Given the description of an element on the screen output the (x, y) to click on. 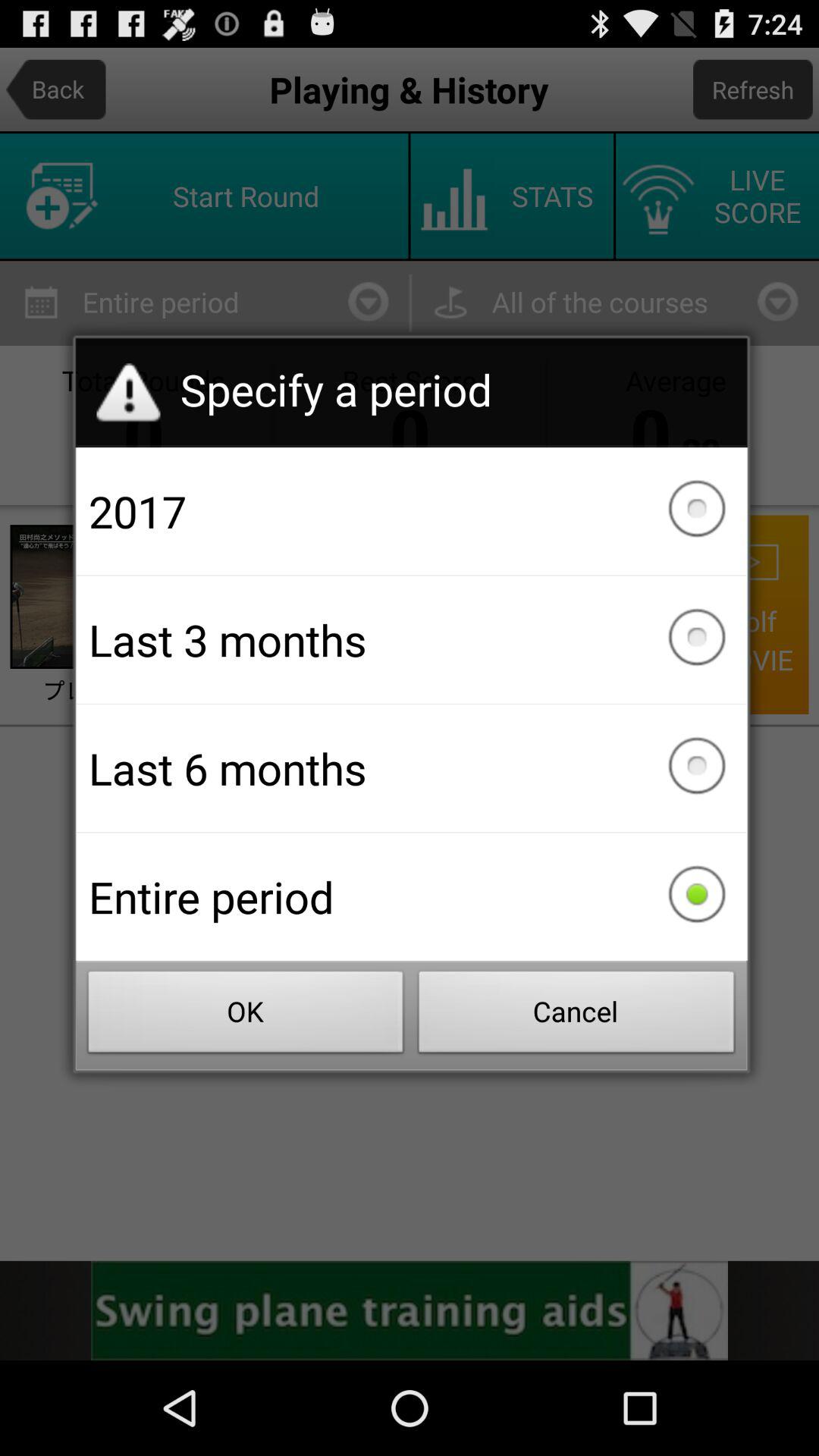
turn on ok button (245, 1016)
